Given the description of an element on the screen output the (x, y) to click on. 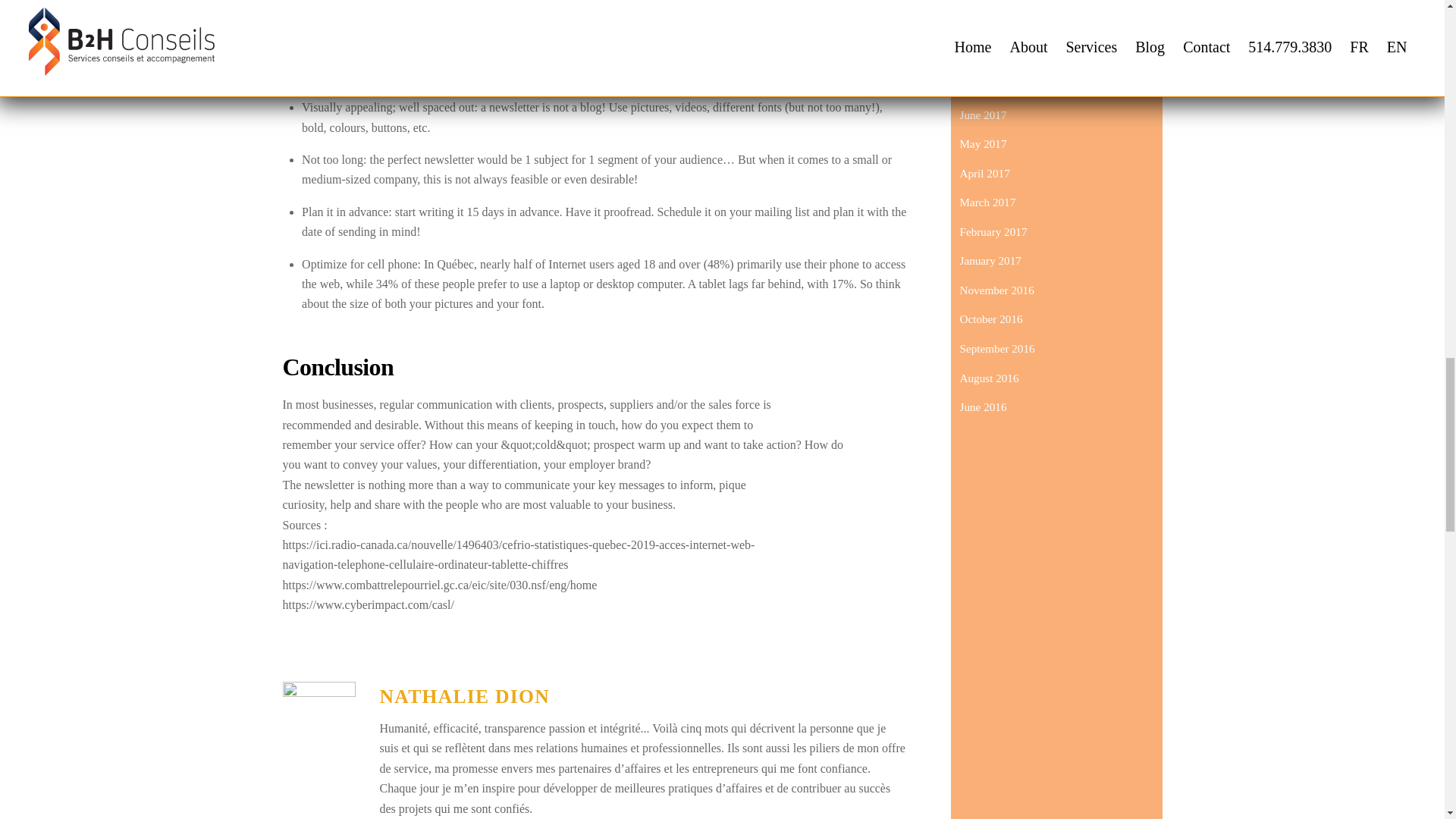
NATHALIE DION (464, 696)
